Given the description of an element on the screen output the (x, y) to click on. 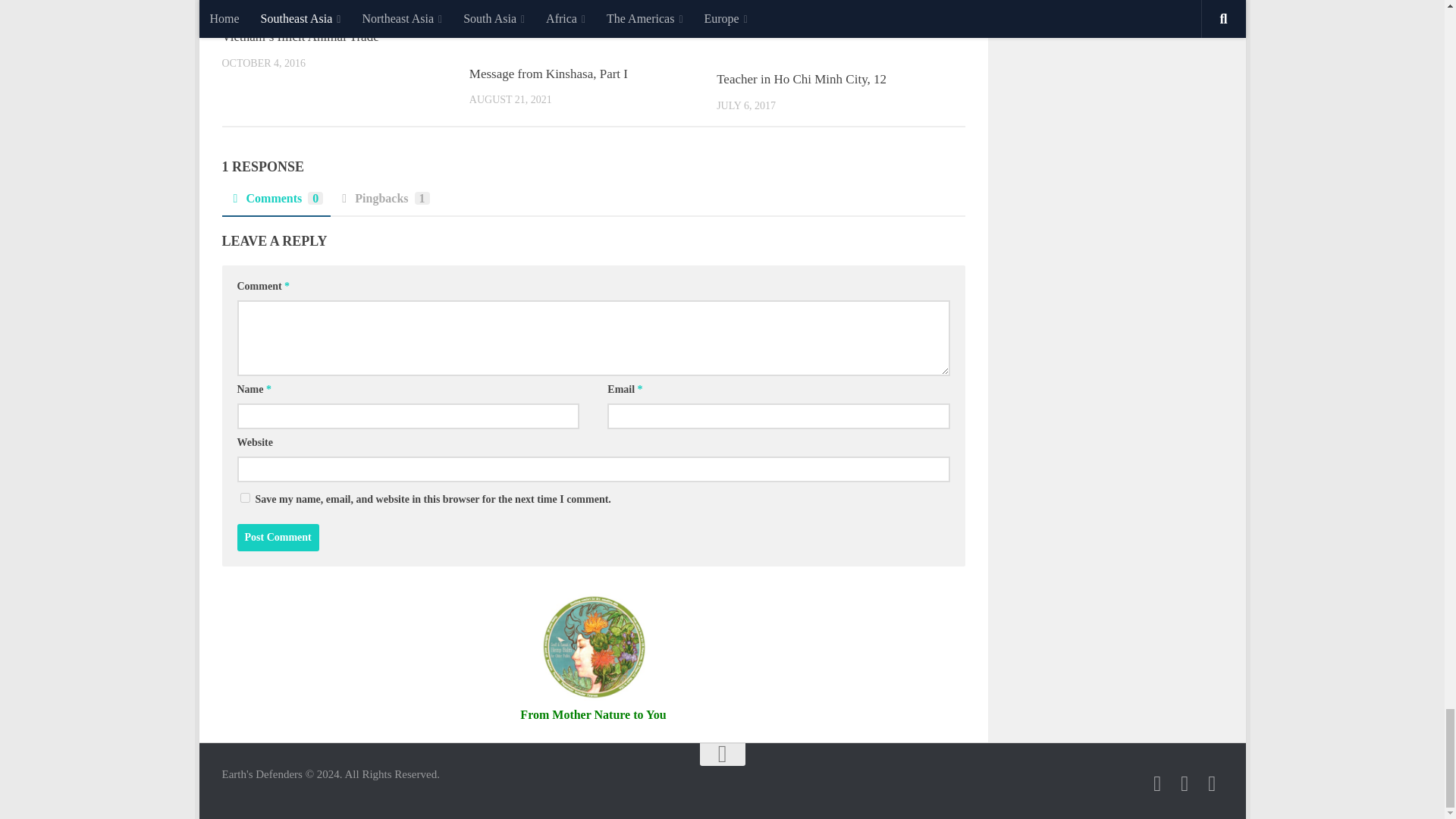
Follow us on Linkedin (1212, 783)
yes (244, 497)
Follow us on Facebook (1157, 783)
Follow us on Twitter (1184, 783)
Post Comment (276, 537)
